Given the description of an element on the screen output the (x, y) to click on. 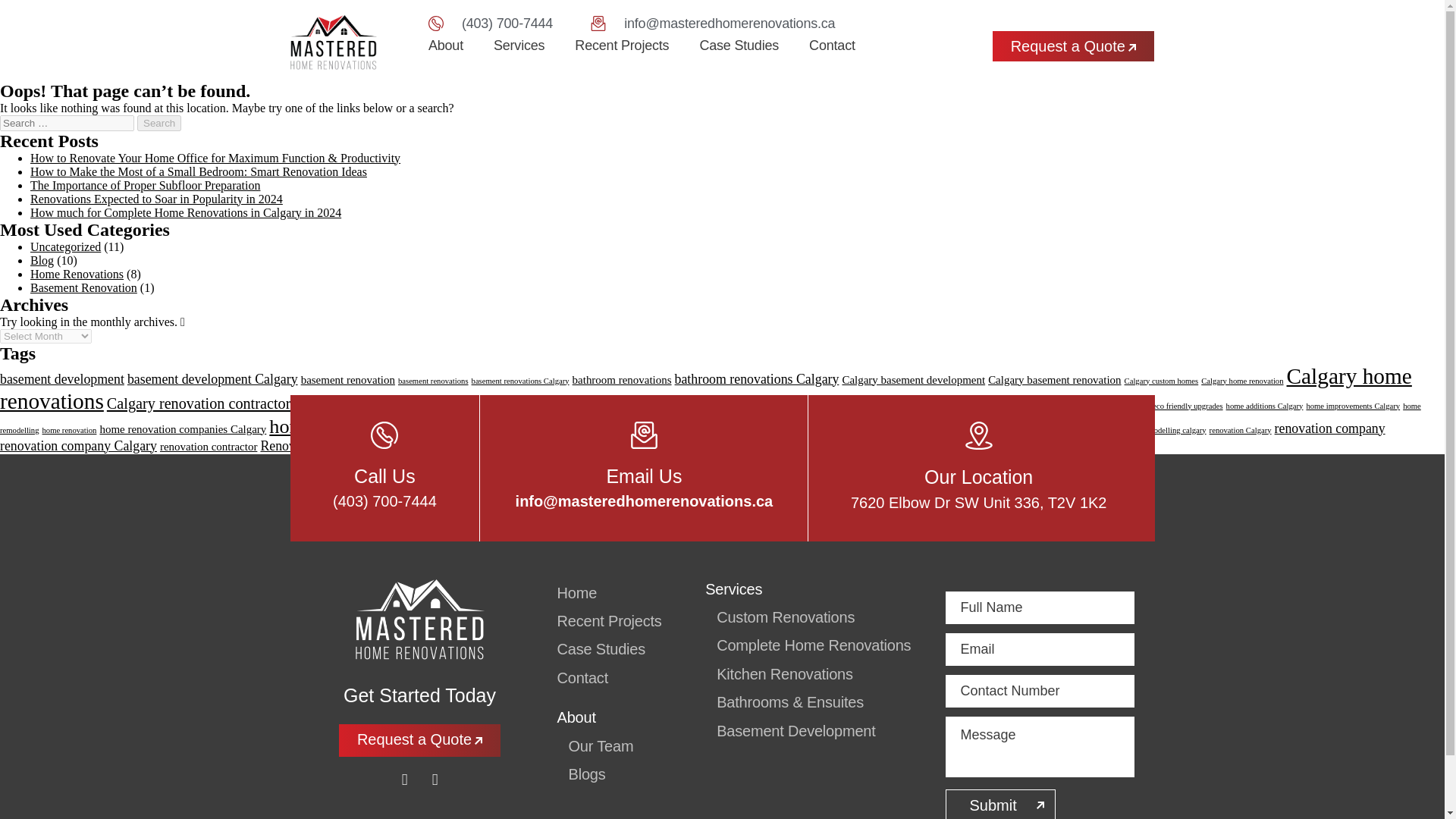
Recent Projects (621, 45)
Contact (832, 45)
Submit (999, 804)
Search (158, 123)
Case Studies (738, 45)
Search (158, 123)
About (445, 45)
Services (518, 45)
